Given the description of an element on the screen output the (x, y) to click on. 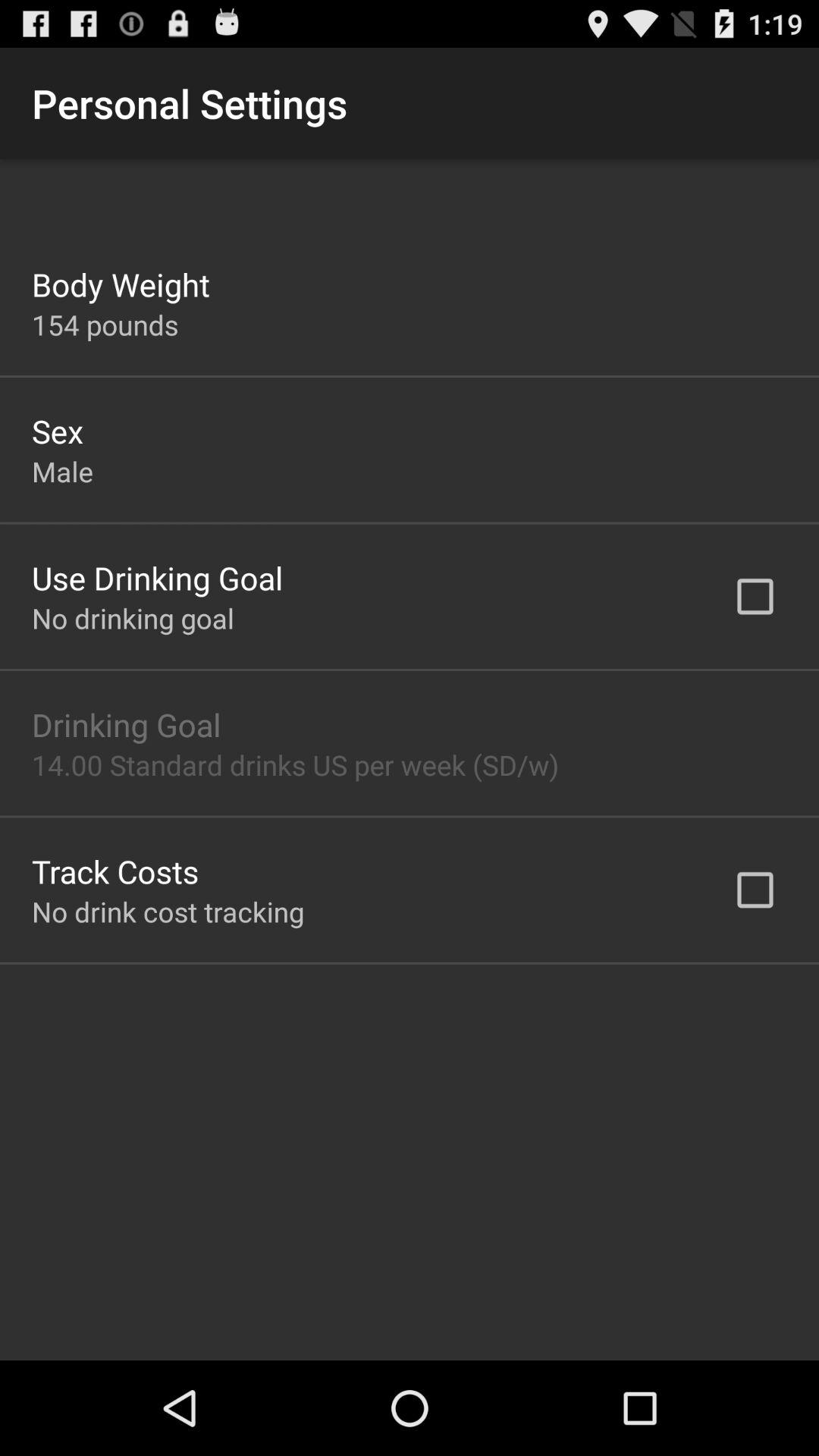
turn off the item below the track costs icon (167, 911)
